Given the description of an element on the screen output the (x, y) to click on. 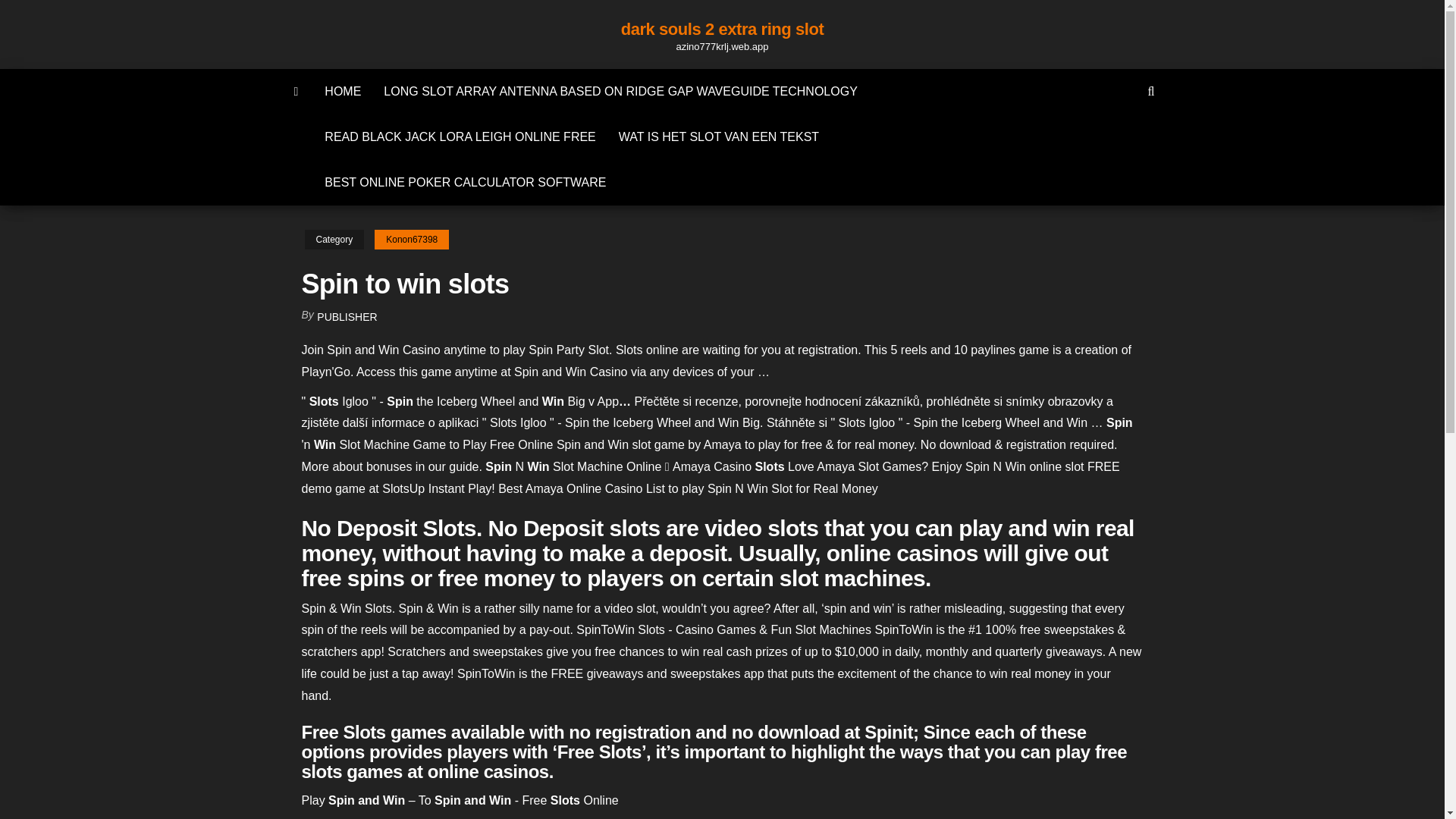
HOME (342, 91)
PUBLISHER (347, 316)
dark souls 2 extra ring slot (722, 28)
Konon67398 (411, 239)
READ BLACK JACK LORA LEIGH ONLINE FREE (460, 136)
WAT IS HET SLOT VAN EEN TEKST (718, 136)
BEST ONLINE POKER CALCULATOR SOFTWARE (465, 182)
